Given the description of an element on the screen output the (x, y) to click on. 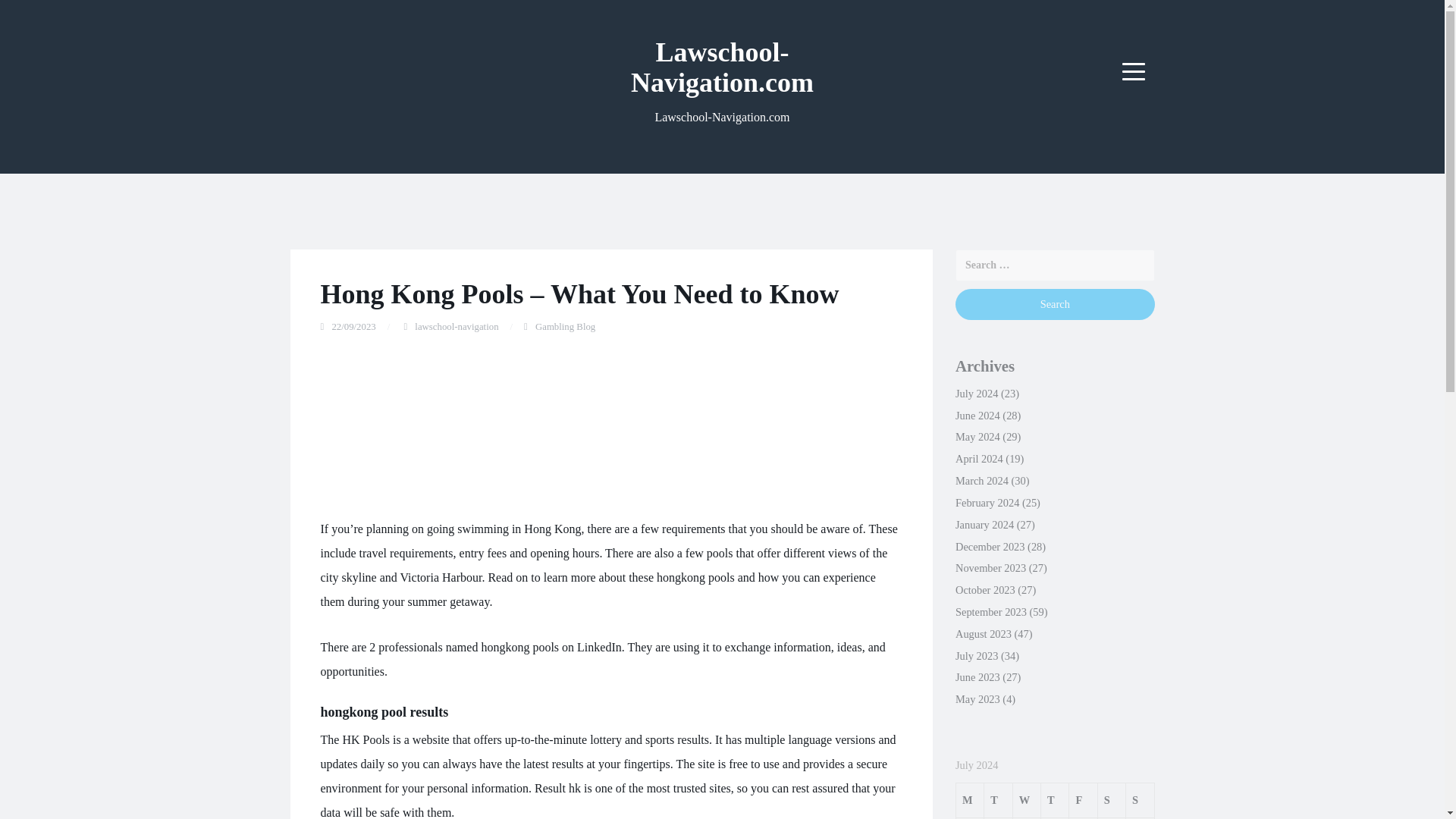
Sunday (1139, 799)
May 2023 (977, 698)
Monday (969, 799)
Menu (1133, 71)
Search (1054, 304)
Friday (1082, 799)
Lawschool-Navigation.com (721, 66)
July 2024 (976, 393)
Tuesday (997, 799)
July 2023 (976, 655)
April 2024 (979, 458)
December 2023 (990, 546)
Thursday (1054, 799)
June 2024 (977, 415)
June 2023 (977, 676)
